Given the description of an element on the screen output the (x, y) to click on. 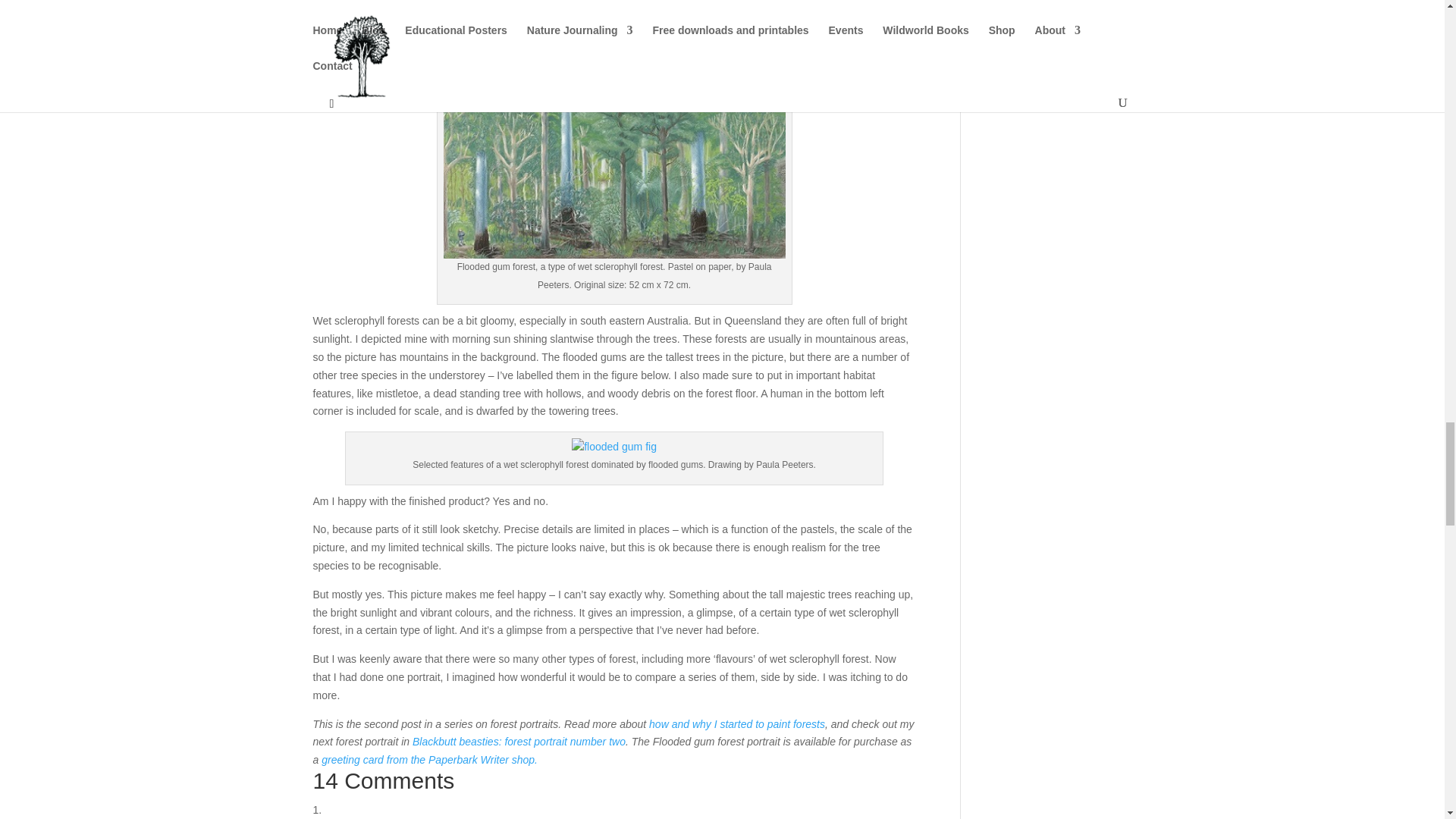
how and why I started to paint forests (737, 724)
greeting card from the Paperbark Writer shop. (429, 759)
Blackbutt beasties: forest portrait number two (519, 741)
